Given the description of an element on the screen output the (x, y) to click on. 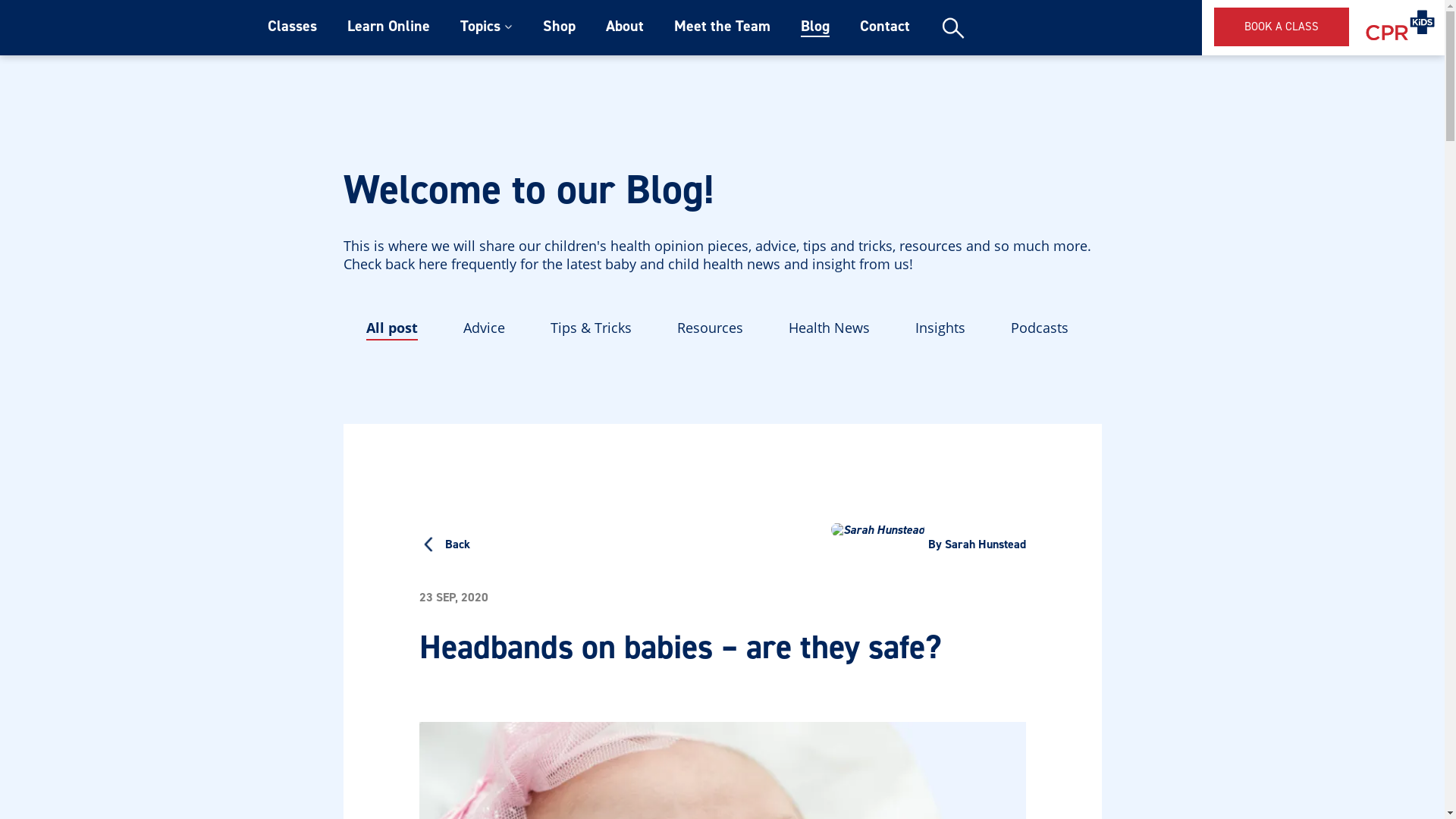
Podcasts Element type: text (1038, 329)
Classes Element type: text (291, 26)
Tips & Tricks Element type: text (590, 329)
Health News Element type: text (828, 329)
Learn Online Element type: text (388, 26)
Shop Element type: text (558, 26)
BOOK A CLASS Element type: text (1281, 26)
Meet the Team Element type: text (721, 26)
Back Element type: text (443, 545)
All post Element type: text (391, 329)
Blog Element type: text (814, 26)
Advice Element type: text (483, 329)
Resources Element type: text (709, 329)
Contact Element type: text (884, 26)
About Element type: text (624, 26)
Topics Element type: text (479, 26)
Insights Element type: text (939, 329)
